Given the description of an element on the screen output the (x, y) to click on. 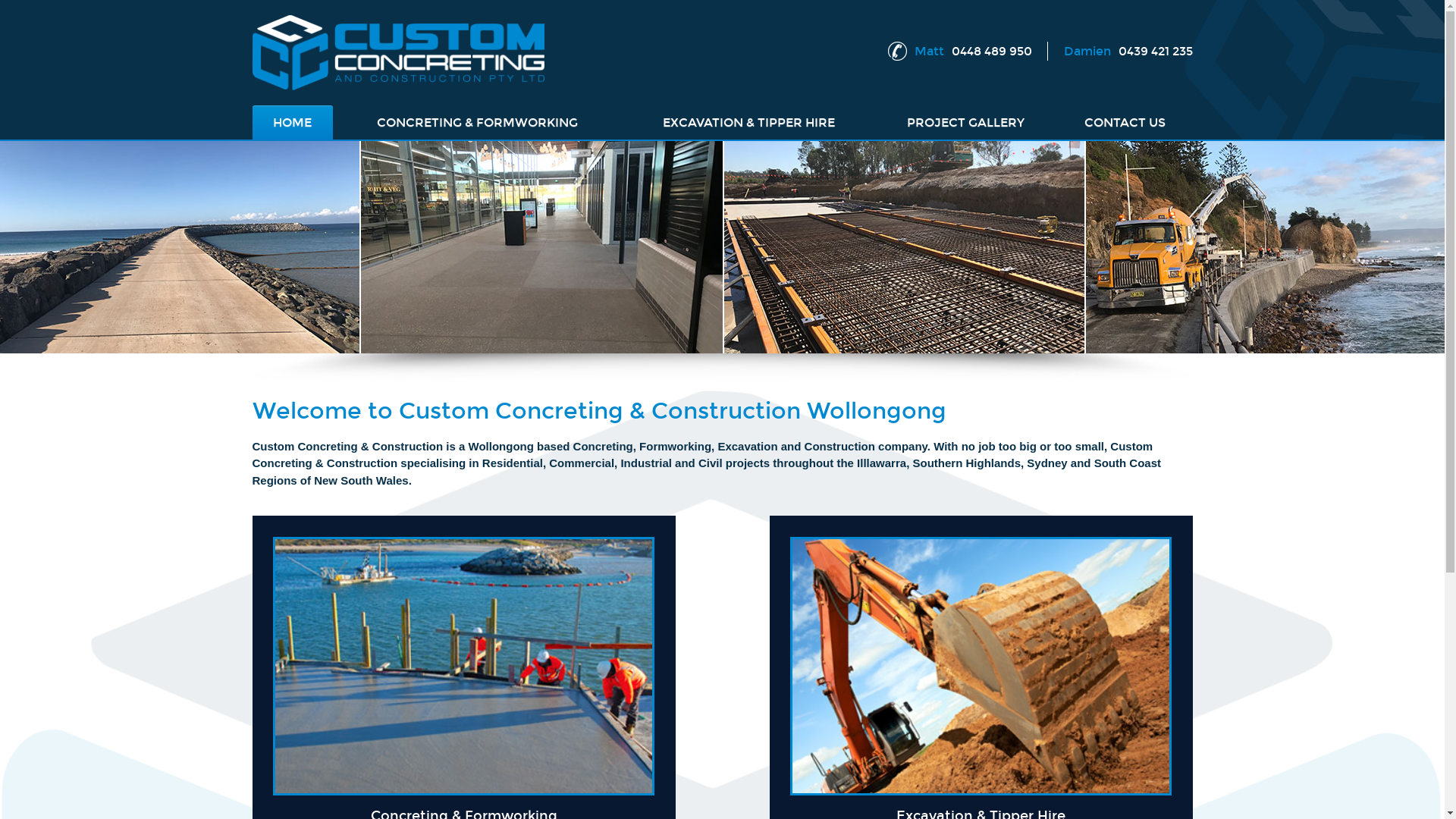
CONCRETING & FORMWORKING Element type: text (477, 122)
PROJECT GALLERY Element type: text (966, 122)
Damien0439 421 235 Element type: text (1127, 50)
Matt0448 489 950 Element type: text (973, 50)
HOME Element type: text (291, 122)
EXCAVATION & TIPPER HIRE Element type: text (748, 122)
CONTACT US Element type: text (1124, 122)
